Given the description of an element on the screen output the (x, y) to click on. 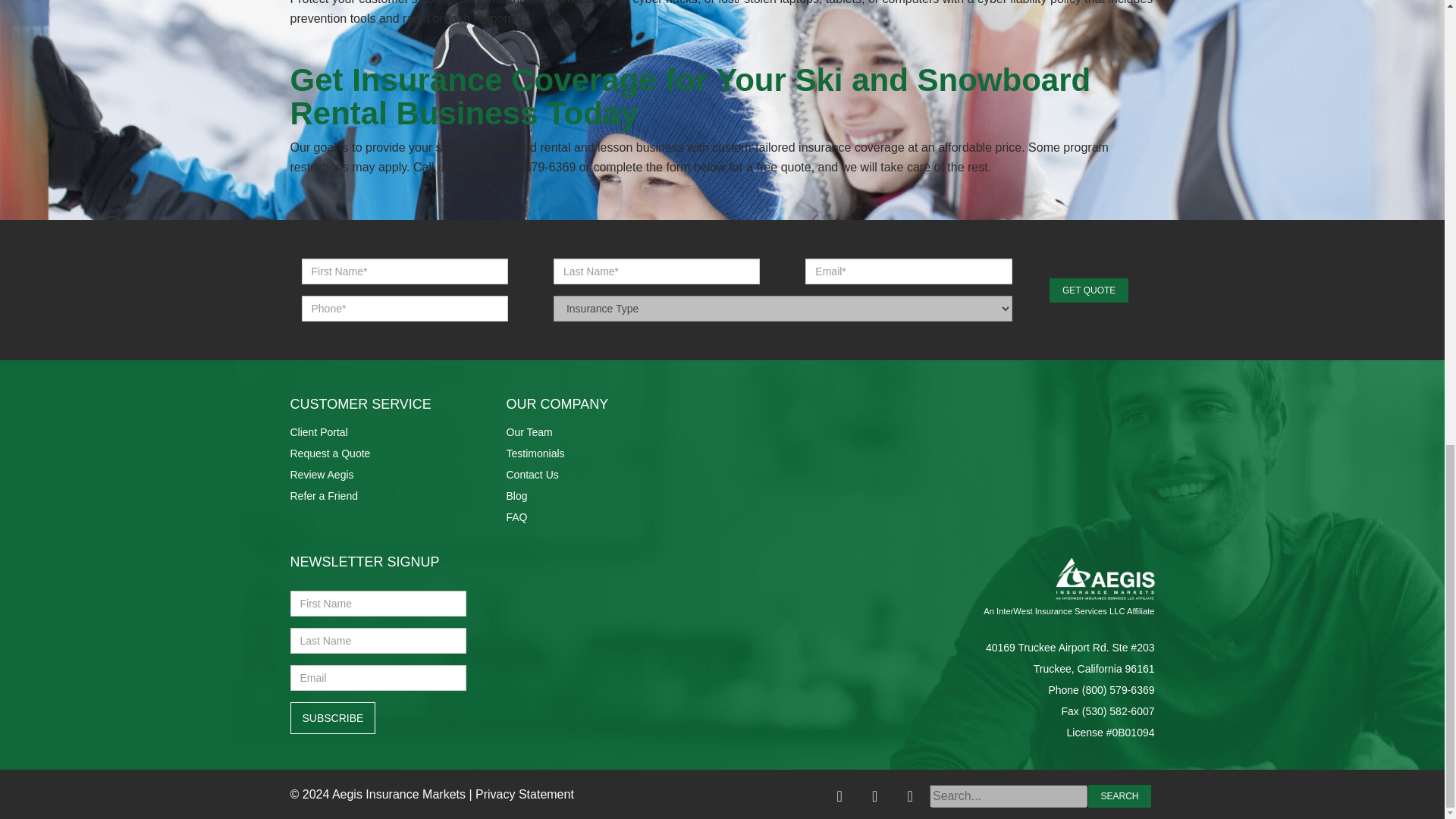
Blog (516, 495)
Privacy Statement (524, 793)
Request a Quote (329, 453)
Contact Us (532, 474)
Client Portal (318, 431)
GET QUOTE (1088, 289)
SEARCH (1118, 795)
FAQ (516, 517)
Refer a Friend (322, 495)
Testimonials (535, 453)
Review Aegis (321, 474)
CUSTOMER SERVICE (359, 403)
SUBSCRIBE (332, 717)
Our Team (529, 431)
OUR COMPANY (557, 403)
